Given the description of an element on the screen output the (x, y) to click on. 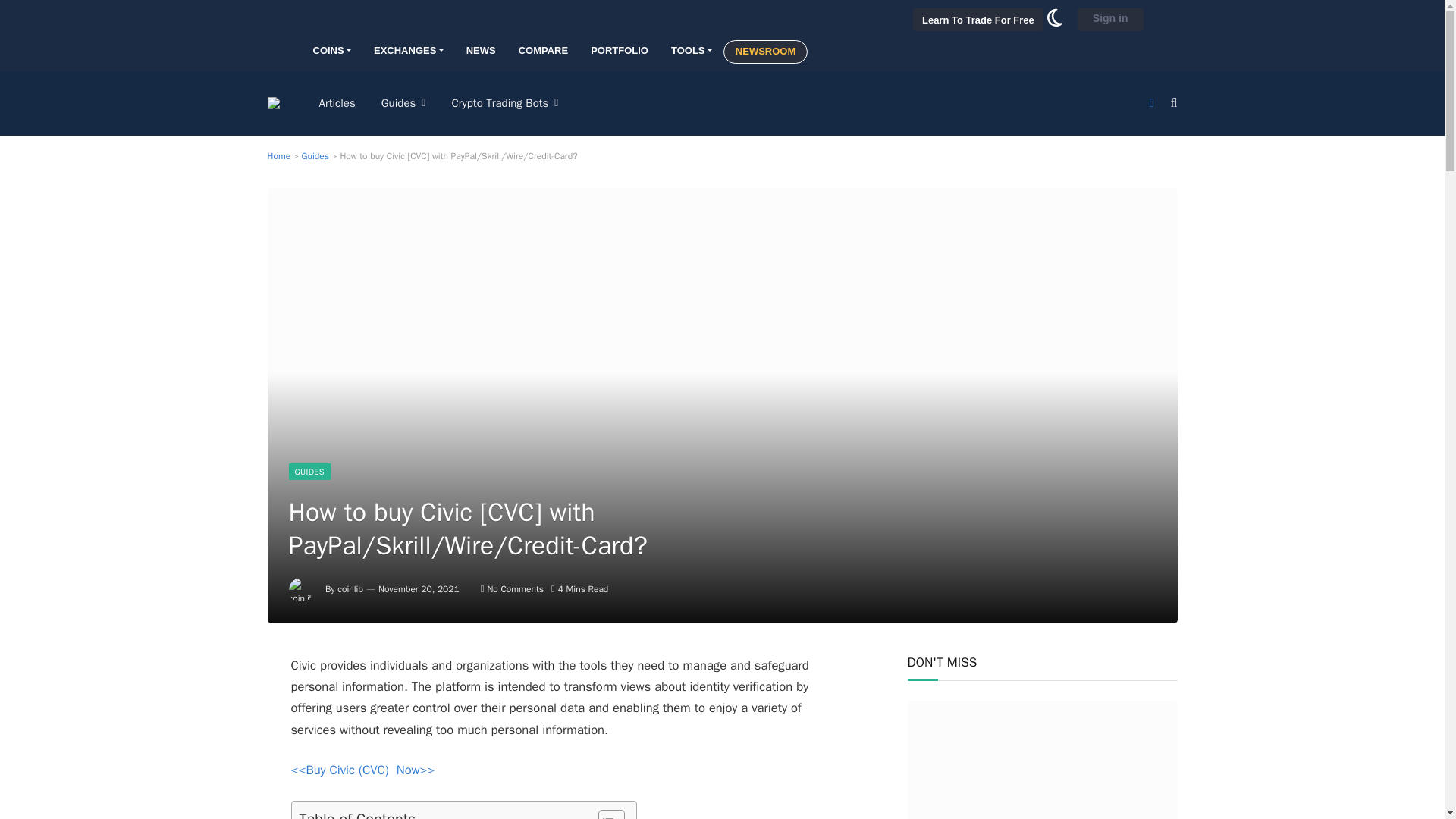
Switch to Dark Design - easier on eyes. (1151, 102)
PORTFOLIO (619, 51)
Sign in (1109, 19)
TOOLS (691, 51)
Coinlib.io (352, 19)
NEWS (481, 51)
COINS (330, 51)
Learn To Trade For Free (977, 19)
EXCHANGES (408, 51)
Switch to Dark Design - easier on eyes. (1054, 23)
